Given the description of an element on the screen output the (x, y) to click on. 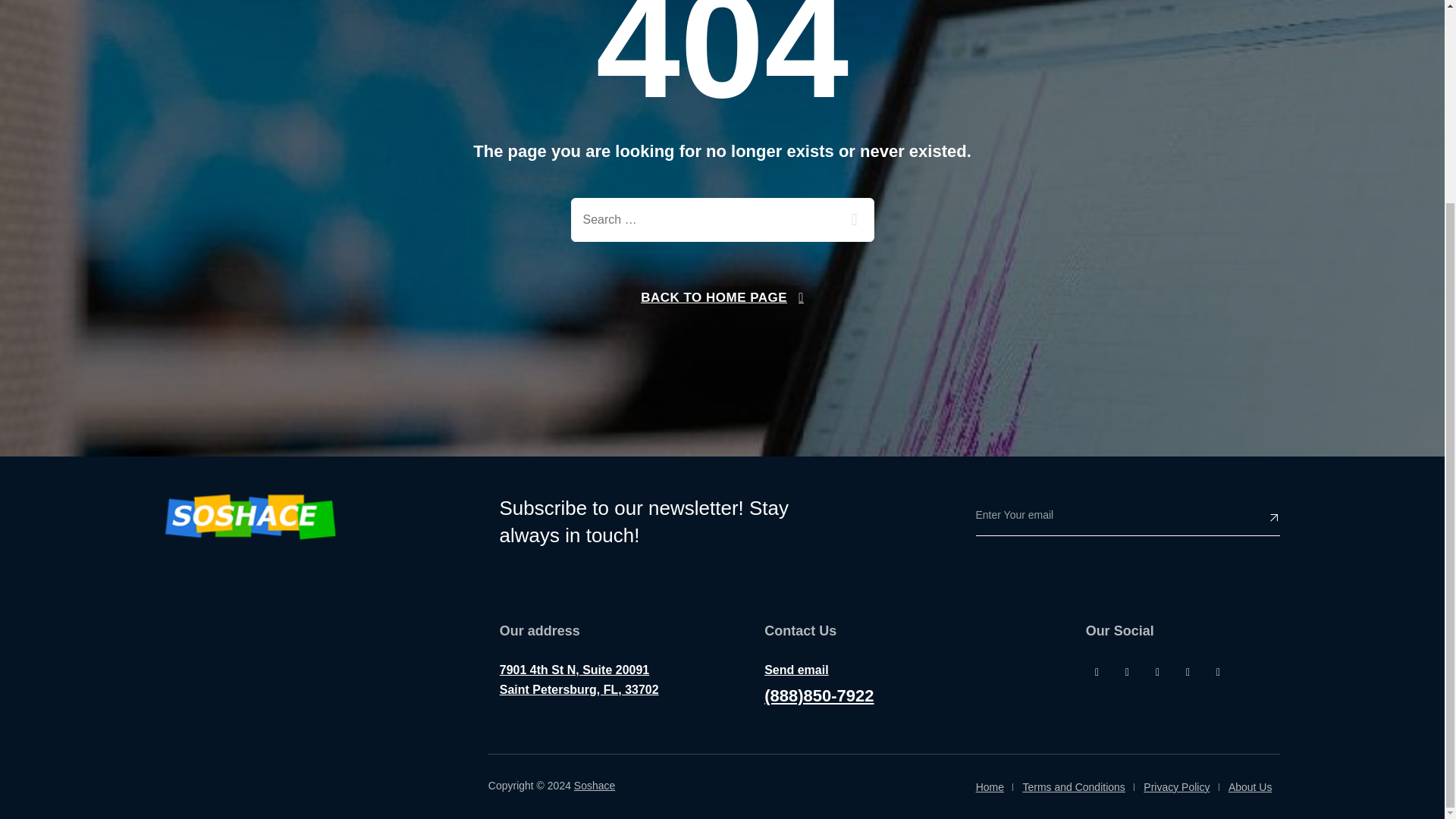
Search  (851, 219)
Facebook (1097, 671)
Soshace (250, 516)
